Given the description of an element on the screen output the (x, y) to click on. 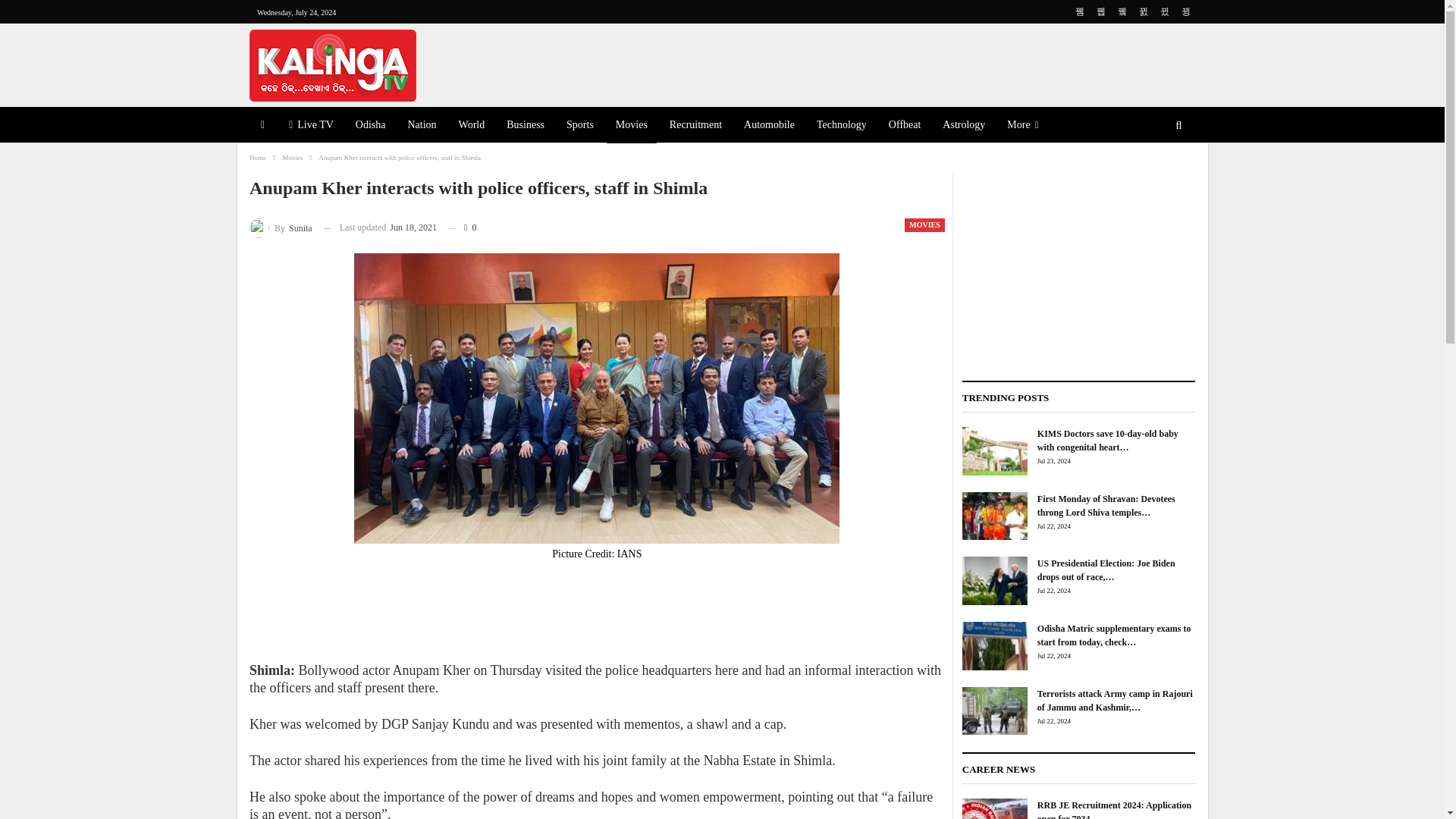
Advertisement (1078, 268)
Advertisement (596, 613)
Recruitment (695, 126)
Nation (421, 126)
Browse Author Articles (280, 227)
Odisha (370, 126)
Home (257, 157)
Movies (292, 157)
0 (462, 227)
Advertisement (882, 61)
Sports (579, 126)
Business (525, 126)
Technology (842, 126)
Offbeat (904, 126)
MOVIES (924, 224)
